Given the description of an element on the screen output the (x, y) to click on. 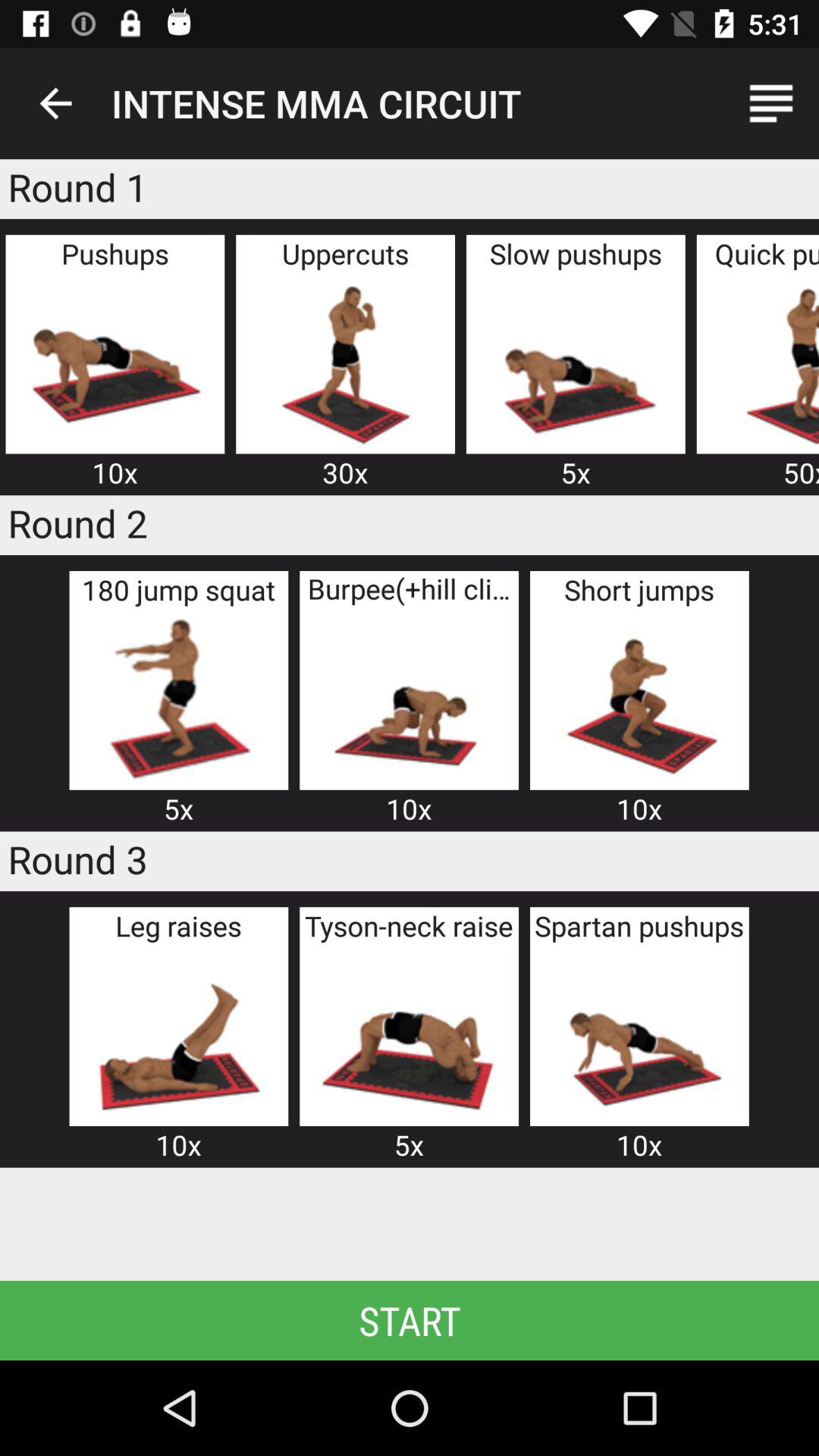
advertisement (178, 1034)
